Given the description of an element on the screen output the (x, y) to click on. 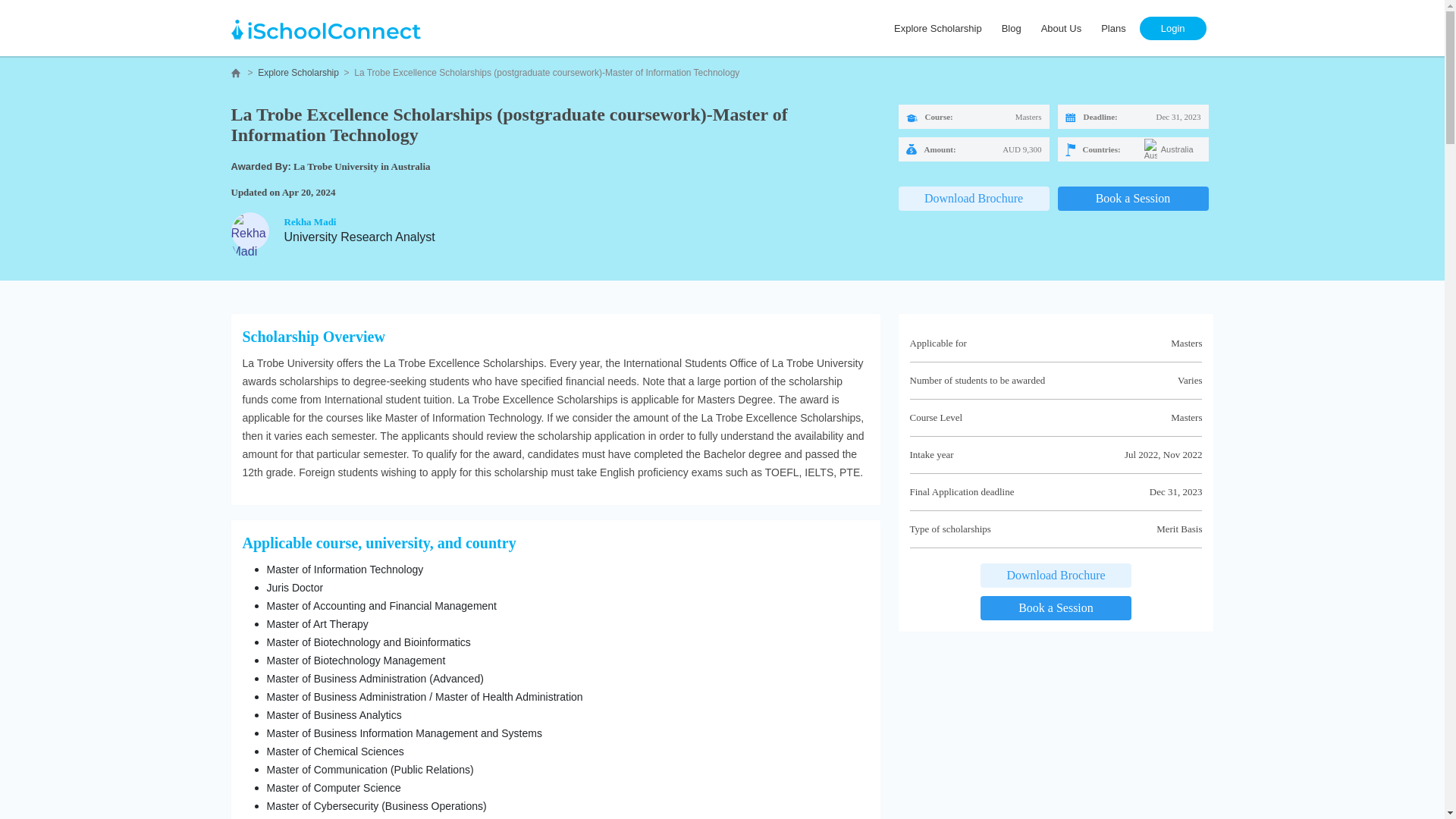
Book a Session (1132, 198)
Login (1172, 28)
Explore Scholarship (298, 72)
Blog (1011, 28)
Explore Scholarship (938, 28)
Plans (1113, 28)
About Us (1061, 28)
Download Brochure (973, 198)
Book a Session (1055, 607)
About Us (1061, 28)
Explore Scholarship (938, 28)
Login (1172, 28)
Plans (1113, 28)
Download Brochure (1055, 575)
Blog (1011, 28)
